Given the description of an element on the screen output the (x, y) to click on. 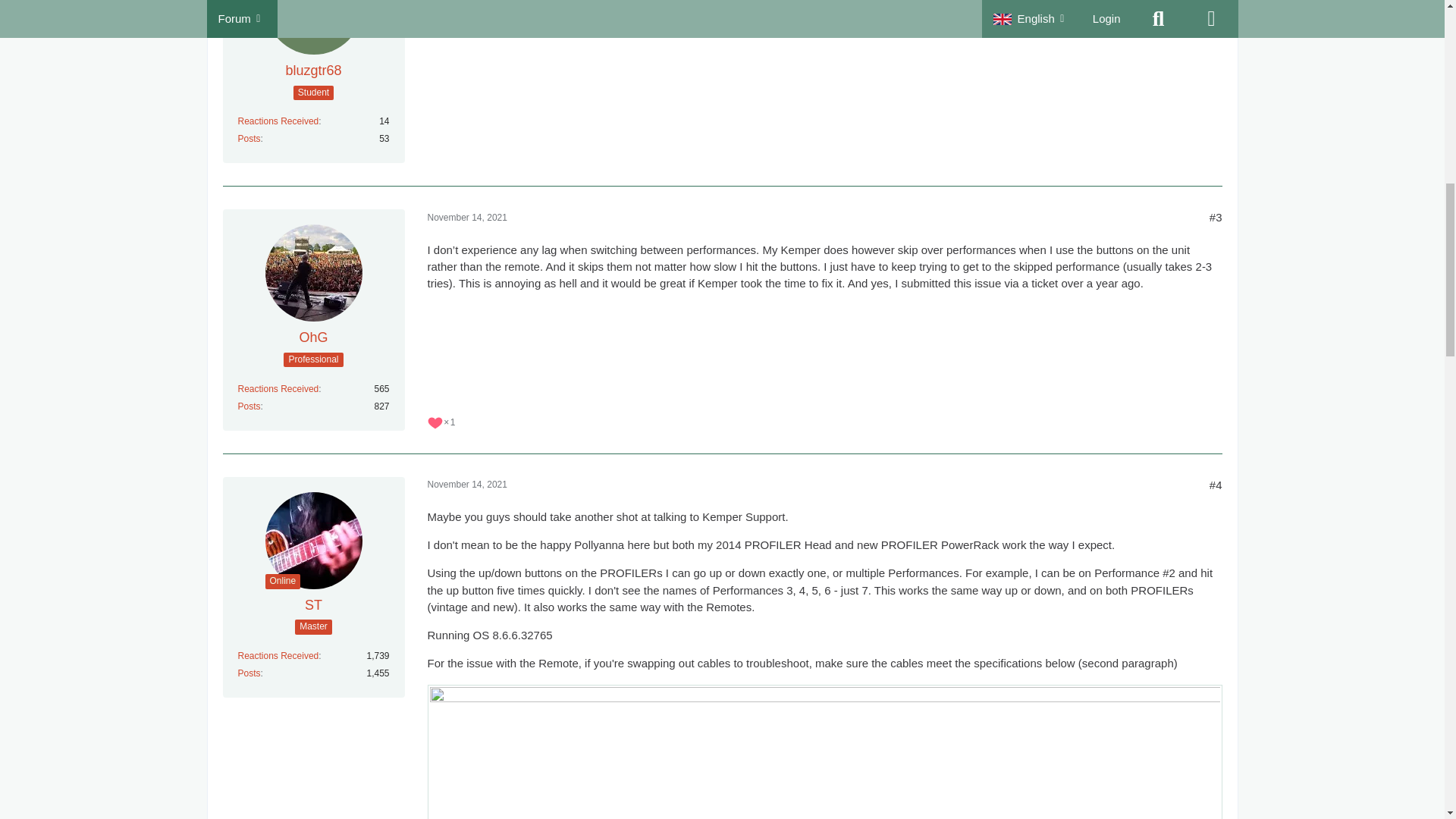
OhG (312, 337)
Reactions Received (278, 388)
pasted-from-clipboard.png (825, 751)
ST is online (282, 581)
Posts (249, 406)
November 14, 2021November 14, 2021 at 4:22 PM (467, 217)
bluzgtr68 (312, 70)
Reactions Received (278, 121)
Posts (249, 138)
